Given the description of an element on the screen output the (x, y) to click on. 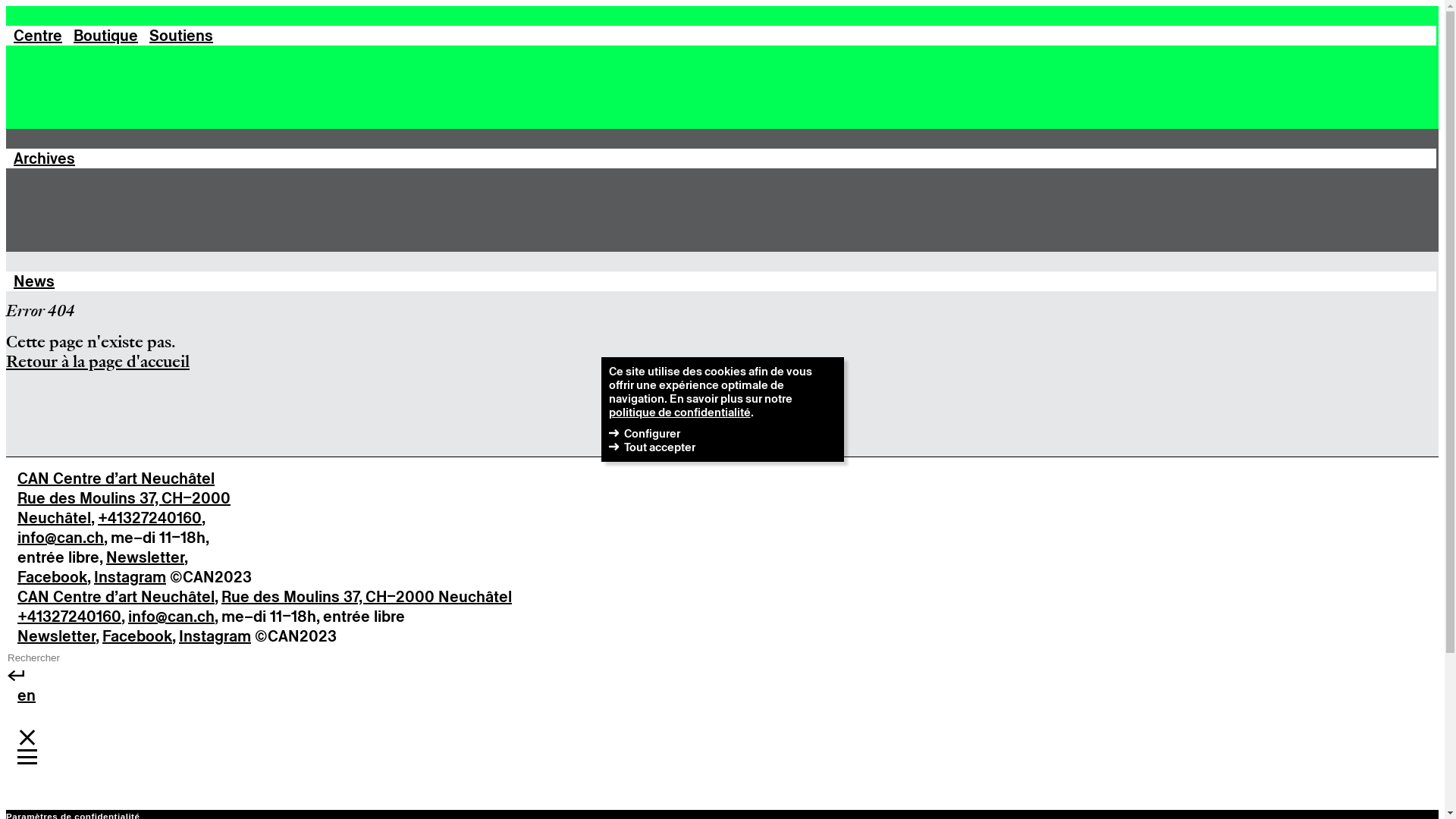
Tout accepter Element type: text (658, 447)
Instagram Element type: text (130, 576)
+41327240160 Element type: text (149, 517)
Centre Element type: text (37, 35)
Archives Element type: text (44, 158)
Facebook Element type: text (52, 576)
Newsletter Element type: text (56, 635)
+41327240160 Element type: text (69, 616)
Facebook Element type: text (137, 635)
Newsletter Element type: text (145, 556)
Configurer Element type: text (651, 433)
Instagram Element type: text (214, 635)
info@can.ch Element type: text (171, 616)
Boutique Element type: text (105, 35)
Soutiens Element type: text (181, 35)
News Element type: text (33, 280)
en Element type: text (26, 695)
info@can.ch Element type: text (60, 537)
